Given the description of an element on the screen output the (x, y) to click on. 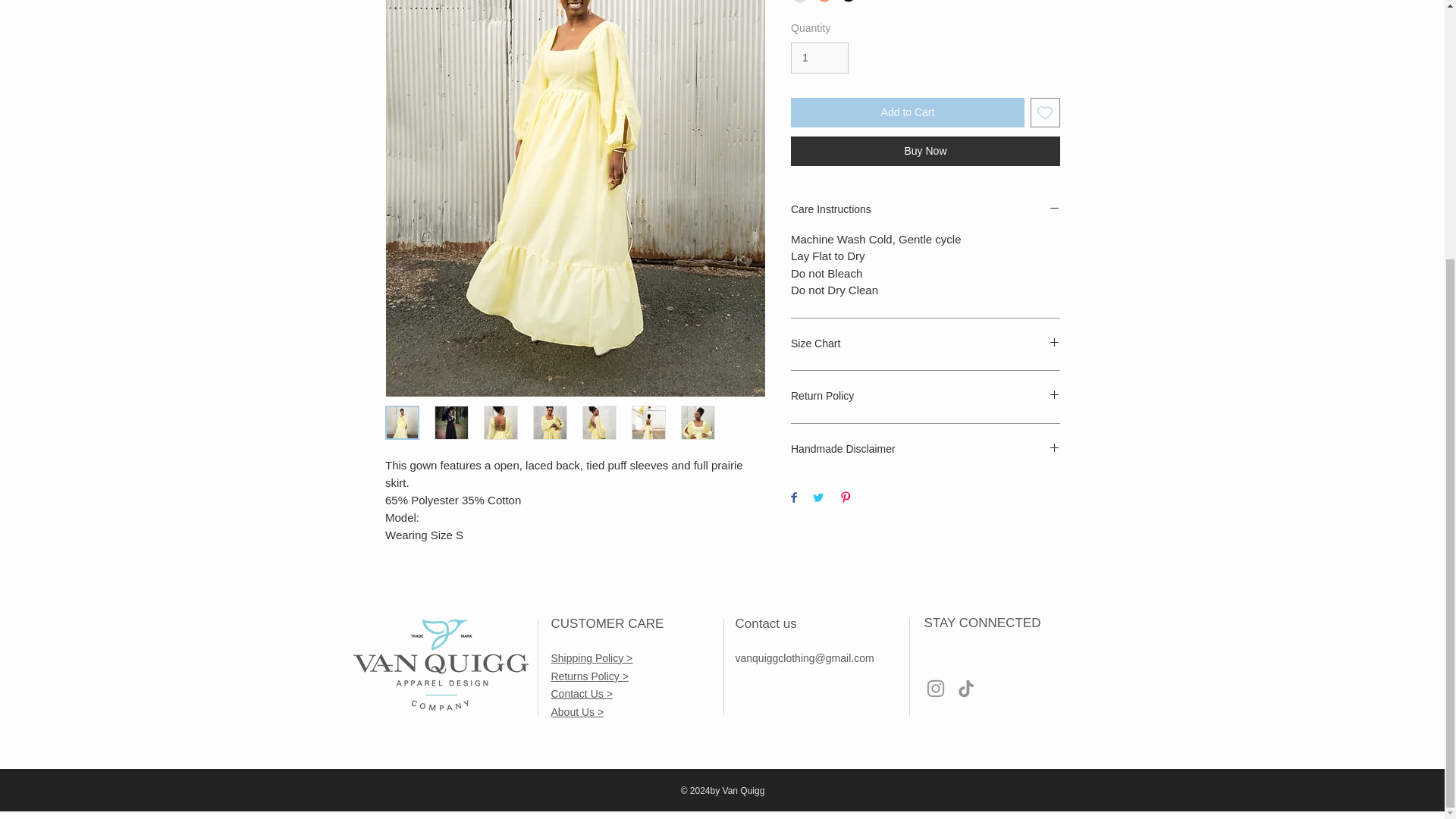
Size Chart (924, 344)
Buy Now (924, 151)
Add to Cart (907, 112)
Return Policy (924, 396)
Care Instructions (924, 210)
1 (819, 57)
Handmade Disclaimer (924, 449)
